Given the description of an element on the screen output the (x, y) to click on. 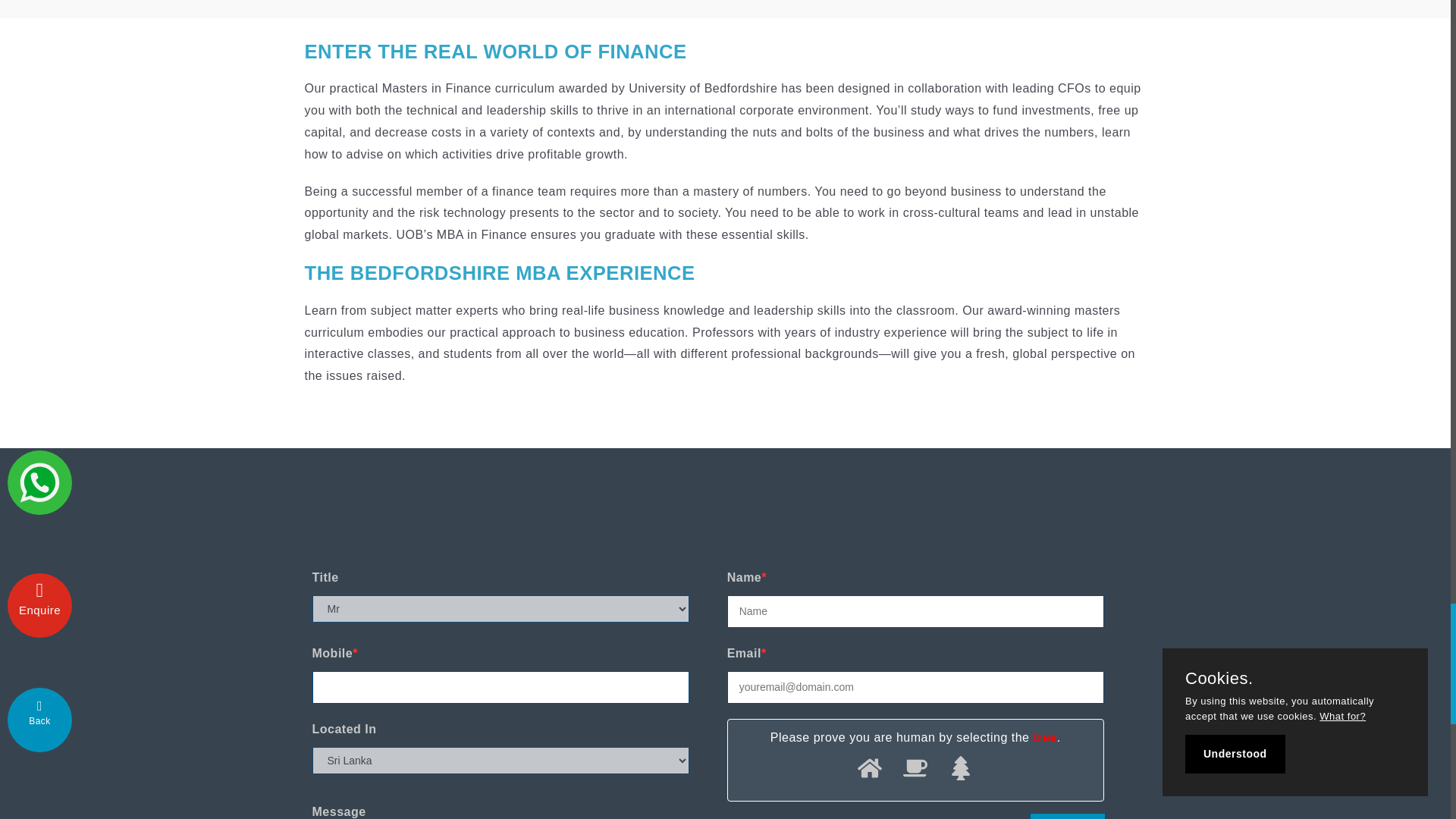
Submit (1067, 816)
